Given the description of an element on the screen output the (x, y) to click on. 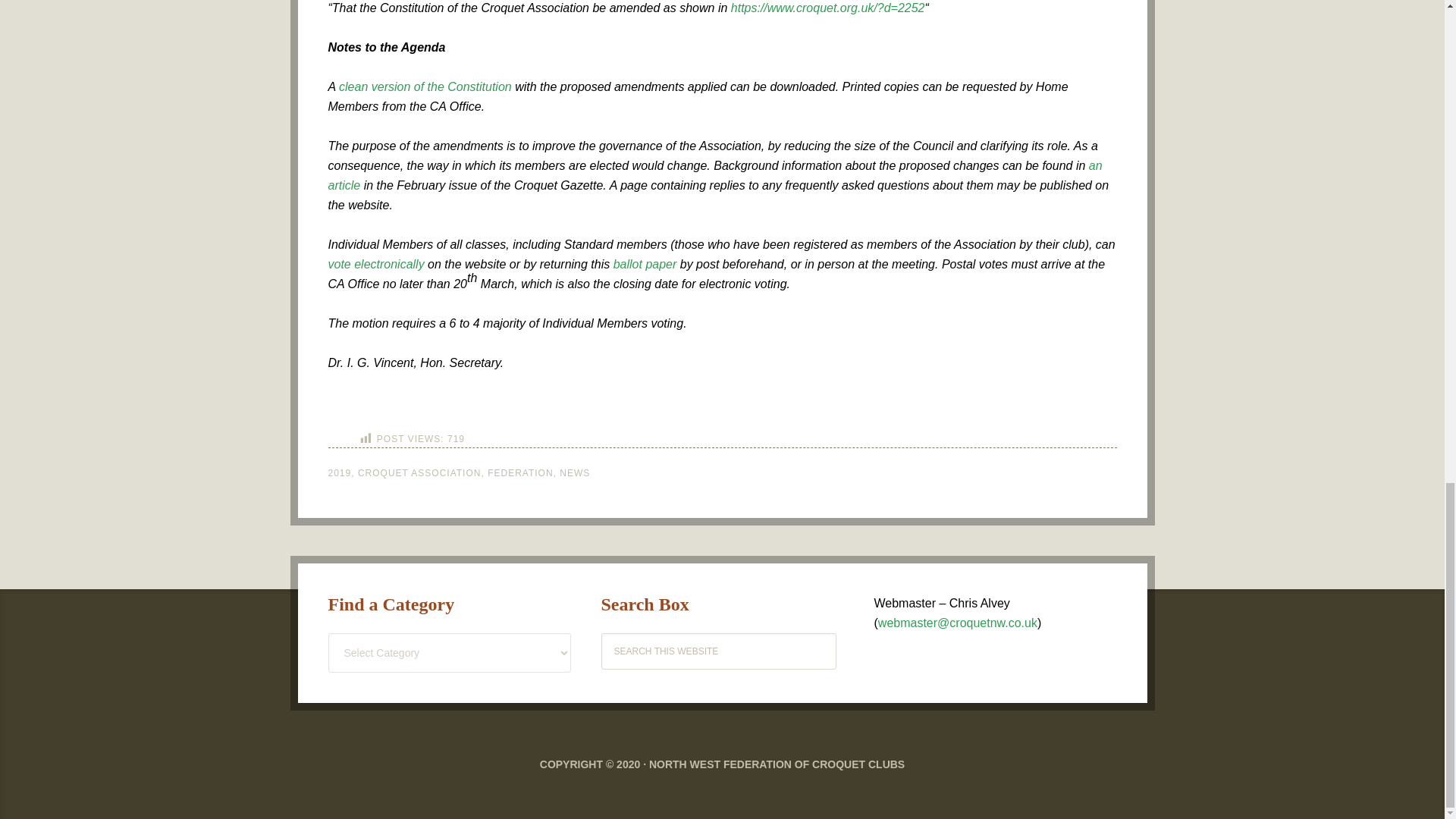
2019 (338, 472)
ballot paper (644, 264)
an article (714, 174)
NORTH WEST FEDERATION OF CROQUET CLUBS (776, 764)
NEWS (574, 472)
Proposed Amendments (827, 7)
vote electronically (375, 264)
Postal Ballot Paper (644, 264)
CROQUET ASSOCIATION (419, 472)
clean version of the Constitution (425, 86)
FEDERATION (520, 472)
Link to Online Voting Application (375, 264)
